Given the description of an element on the screen output the (x, y) to click on. 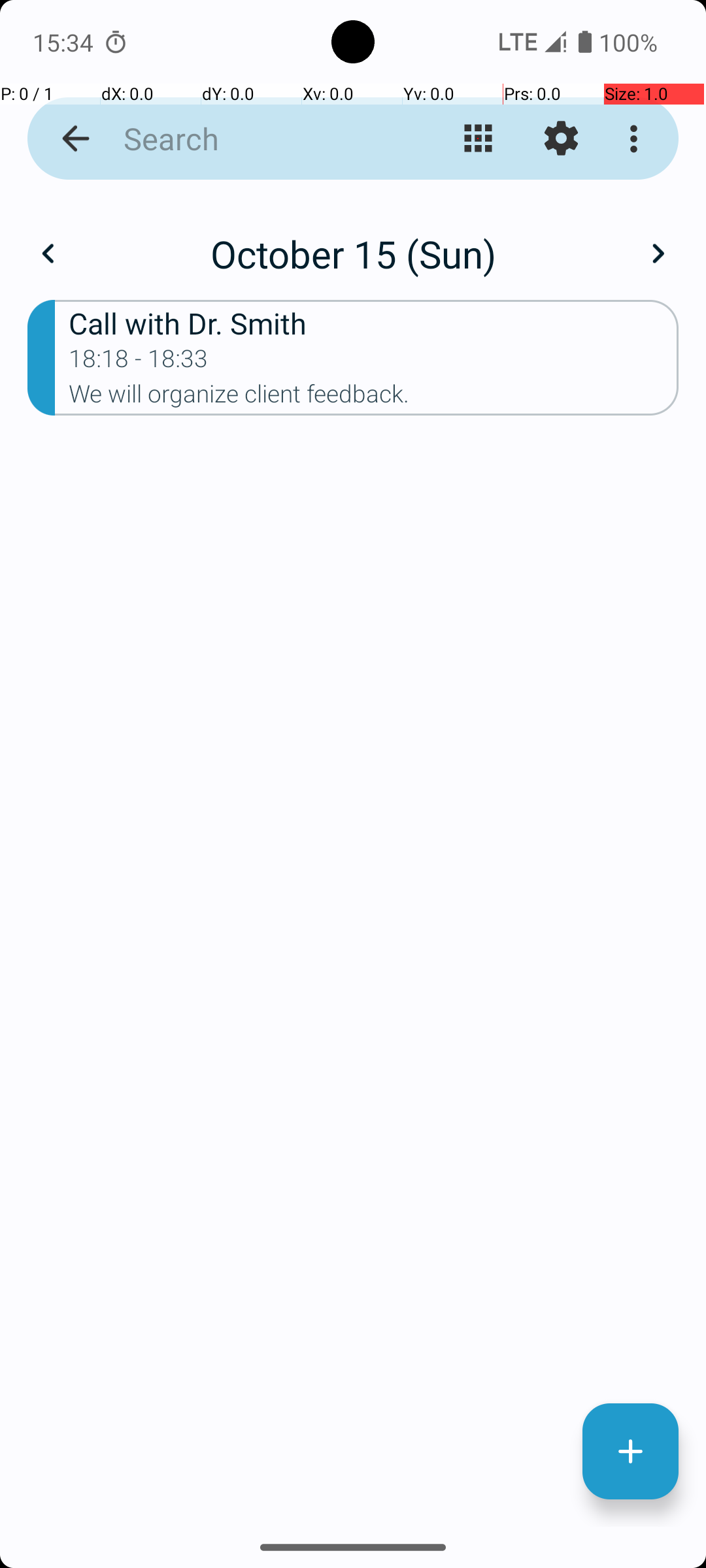
December Element type: android.widget.TextView (352, 239)
18:18 - 18:33 Element type: android.widget.TextView (137, 362)
We will organize client feedback. Element type: android.widget.TextView (373, 397)
